Given the description of an element on the screen output the (x, y) to click on. 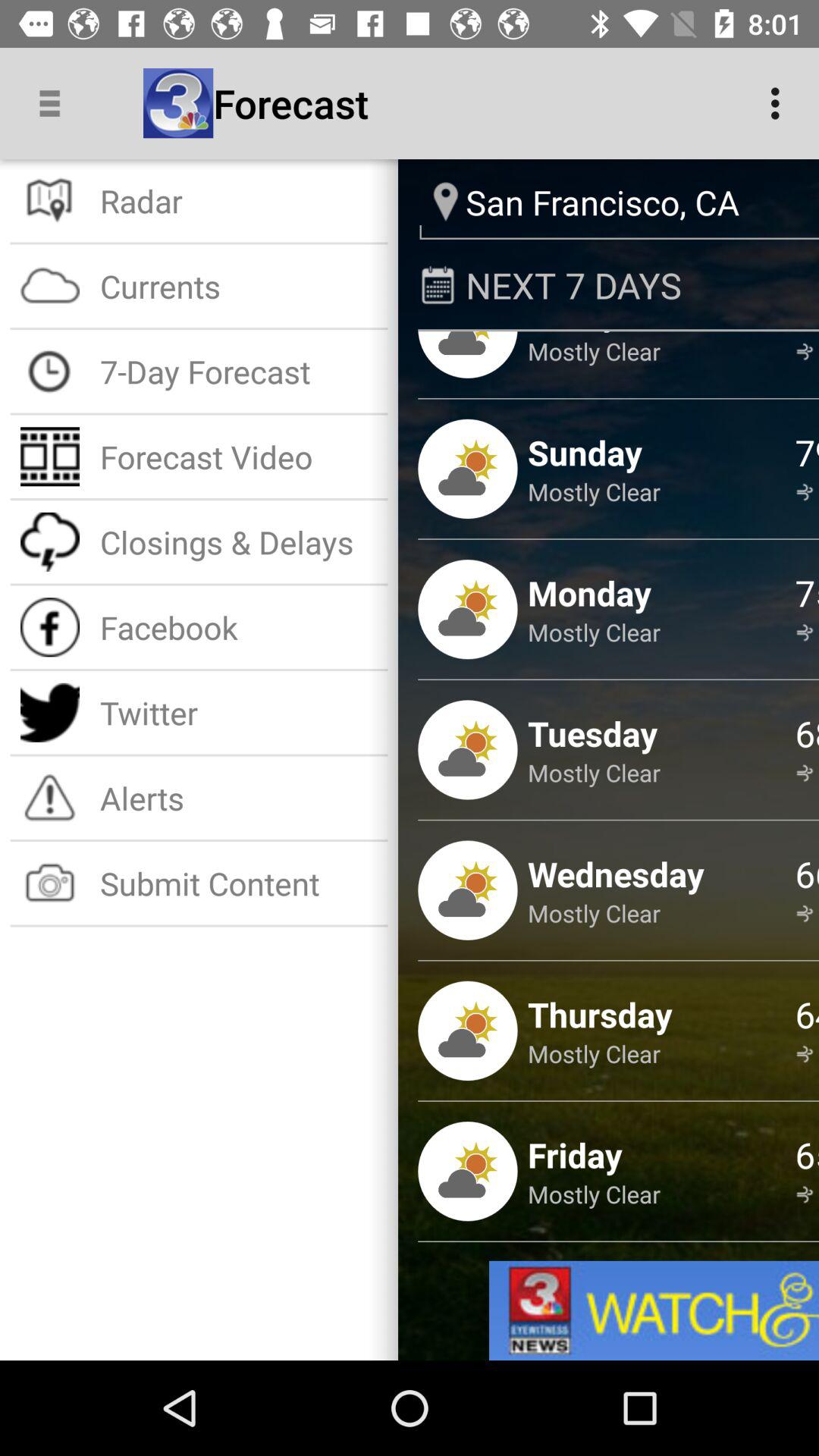
open the item below alerts item (238, 882)
